Given the description of an element on the screen output the (x, y) to click on. 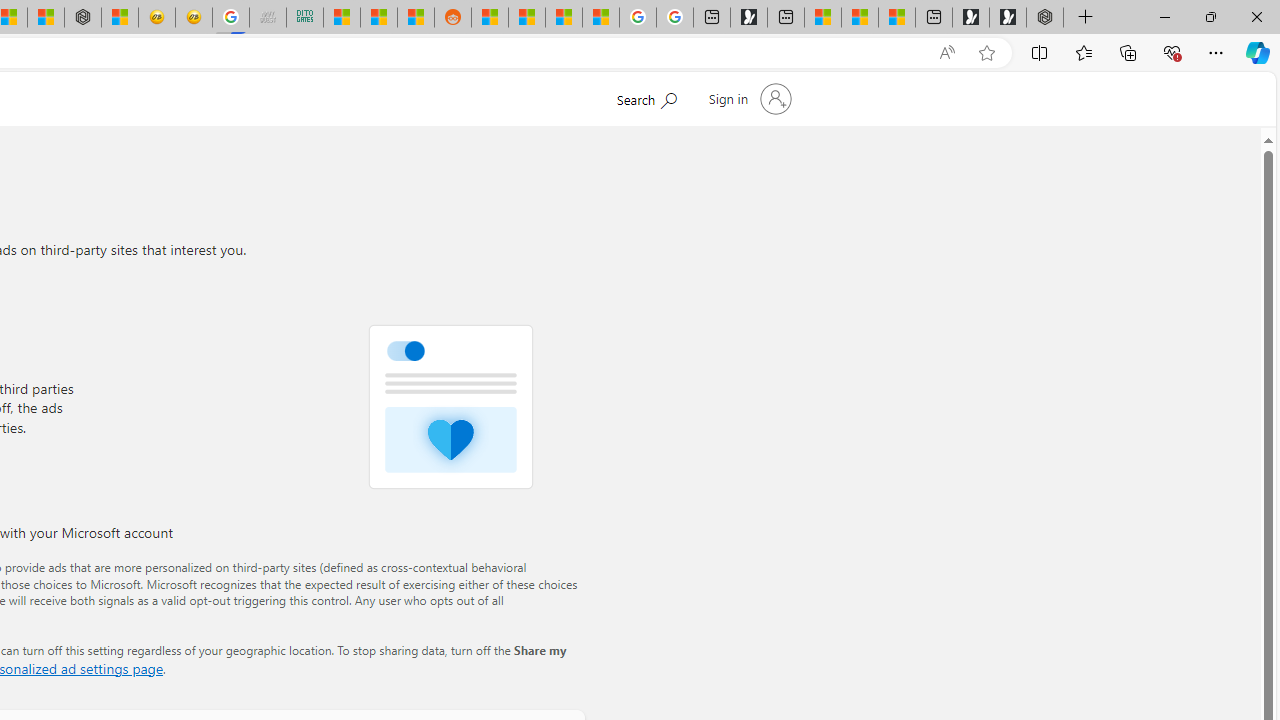
Nordace - #1 Japanese Best-Seller - Siena Smart Backpack (83, 17)
R******* | Trusted Community Engagement and Contributions (490, 17)
